Given the description of an element on the screen output the (x, y) to click on. 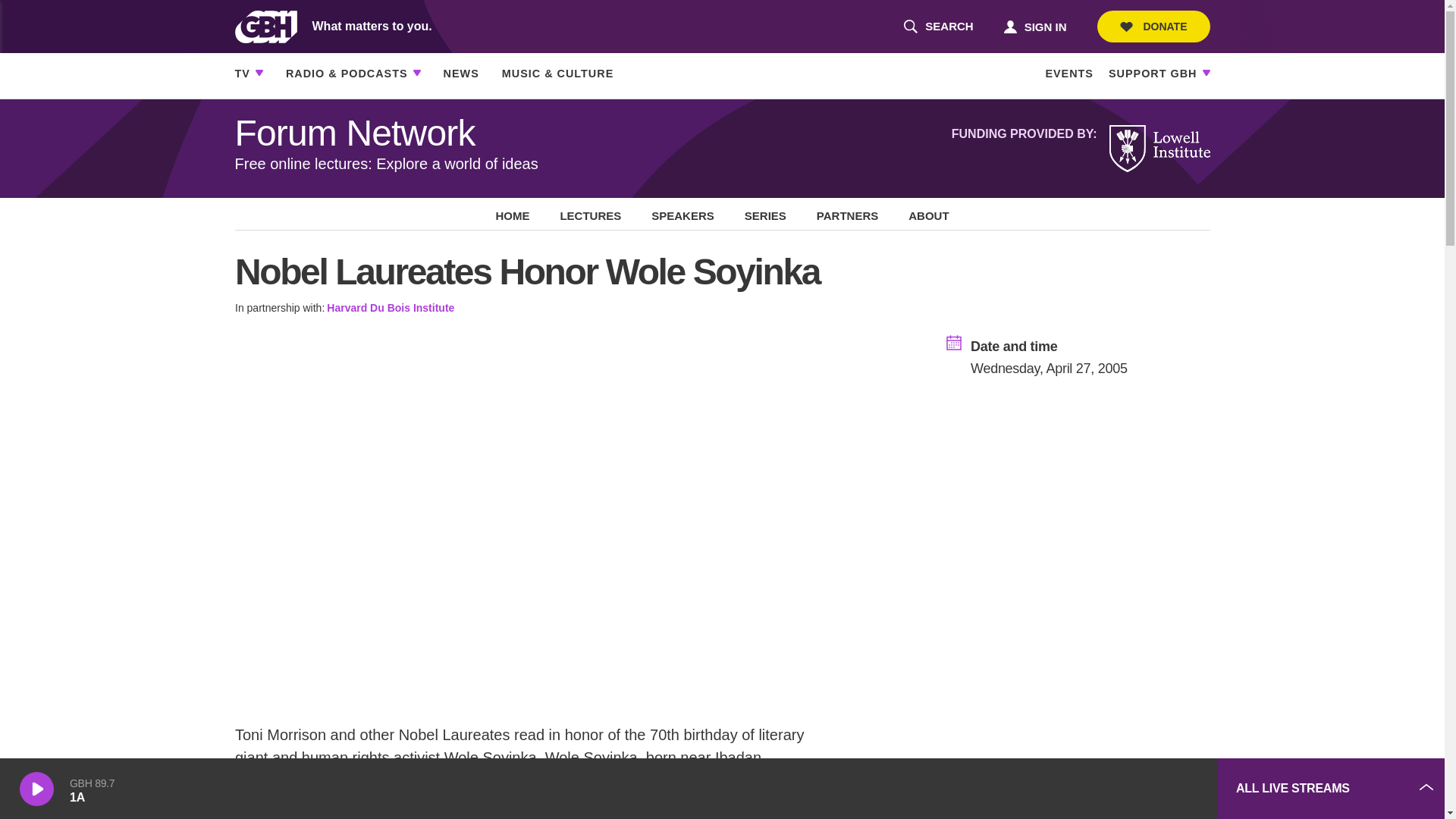
DONATE (1153, 26)
SIGN IN (1034, 25)
3rd party ad content (937, 26)
YouTube embedded video player (1091, 788)
